Given the description of an element on the screen output the (x, y) to click on. 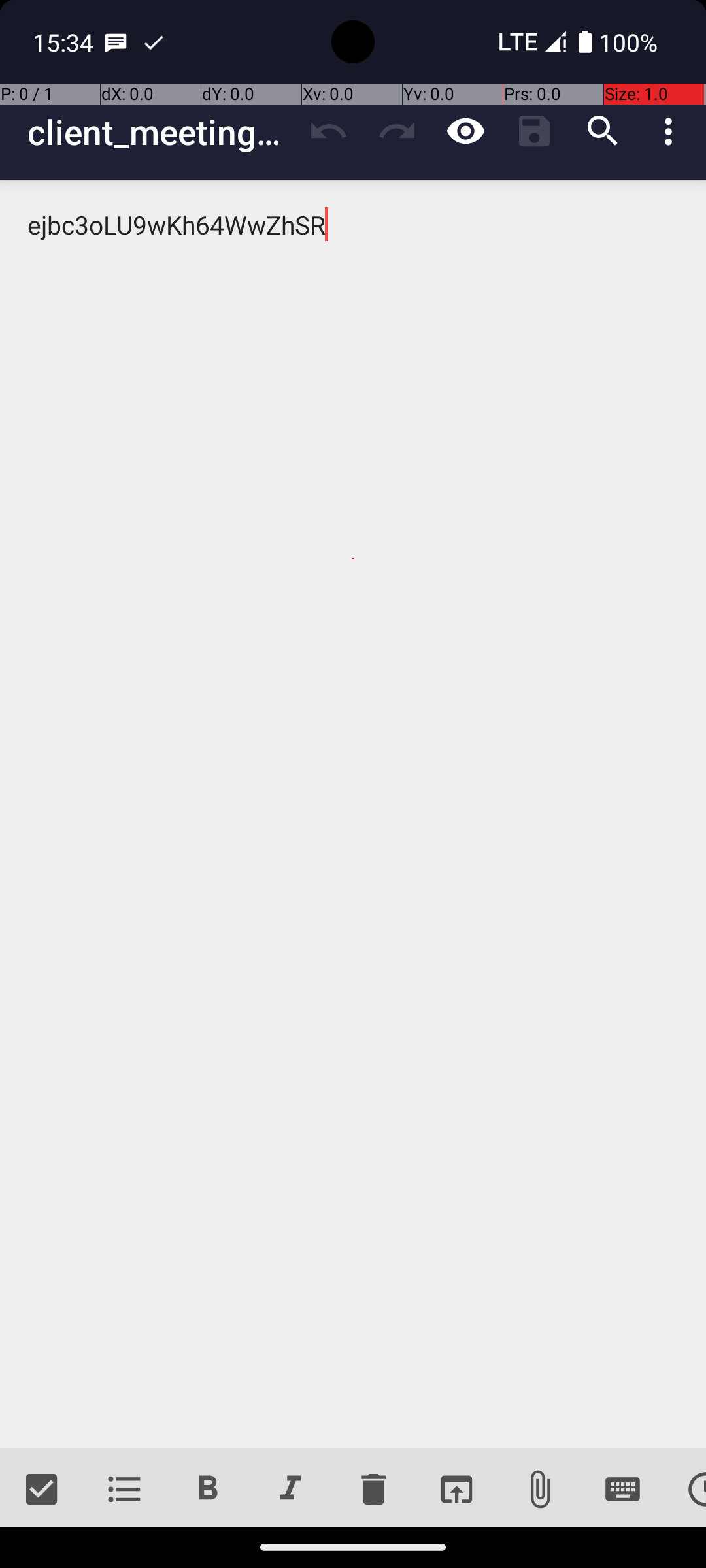
client_meetings_schedule_2023_08_13 Element type: android.widget.TextView (160, 131)
ejbc3oLU9wKh64WwZhSR
 Element type: android.widget.EditText (353, 813)
